Given the description of an element on the screen output the (x, y) to click on. 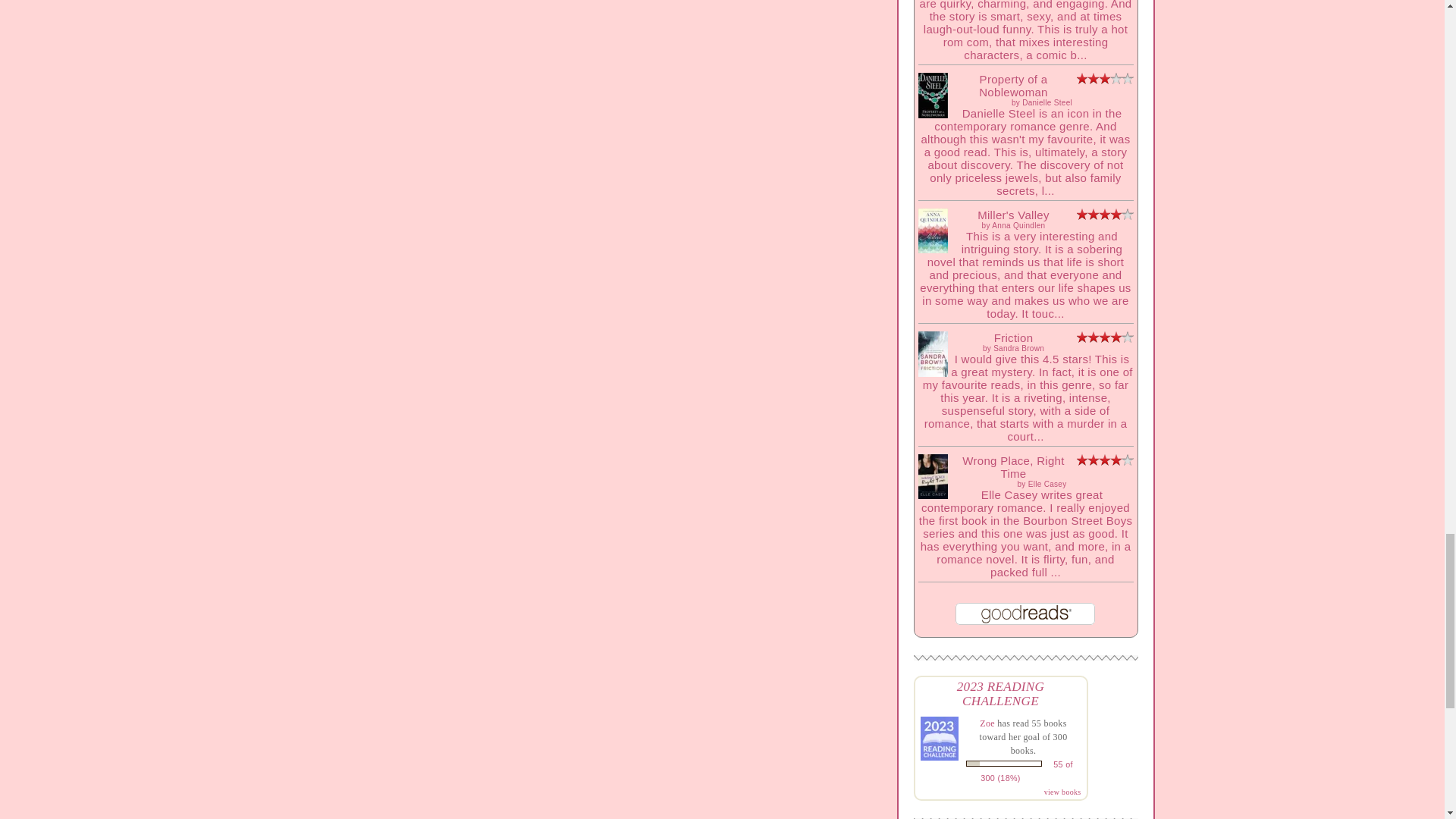
Miller's Valley (932, 248)
Friction (932, 372)
Property of a Noblewoman (932, 113)
